Given the description of an element on the screen output the (x, y) to click on. 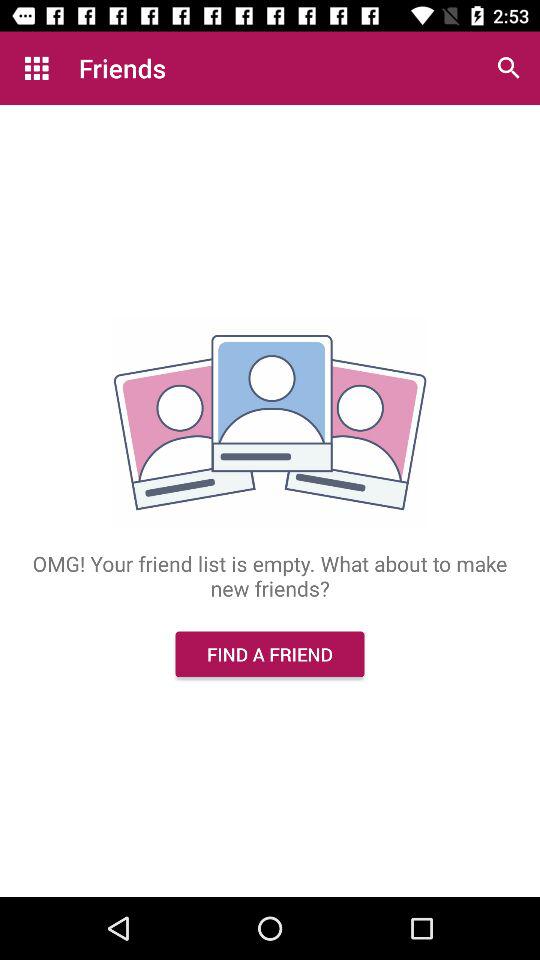
tap the item above omg your friend item (36, 68)
